Given the description of an element on the screen output the (x, y) to click on. 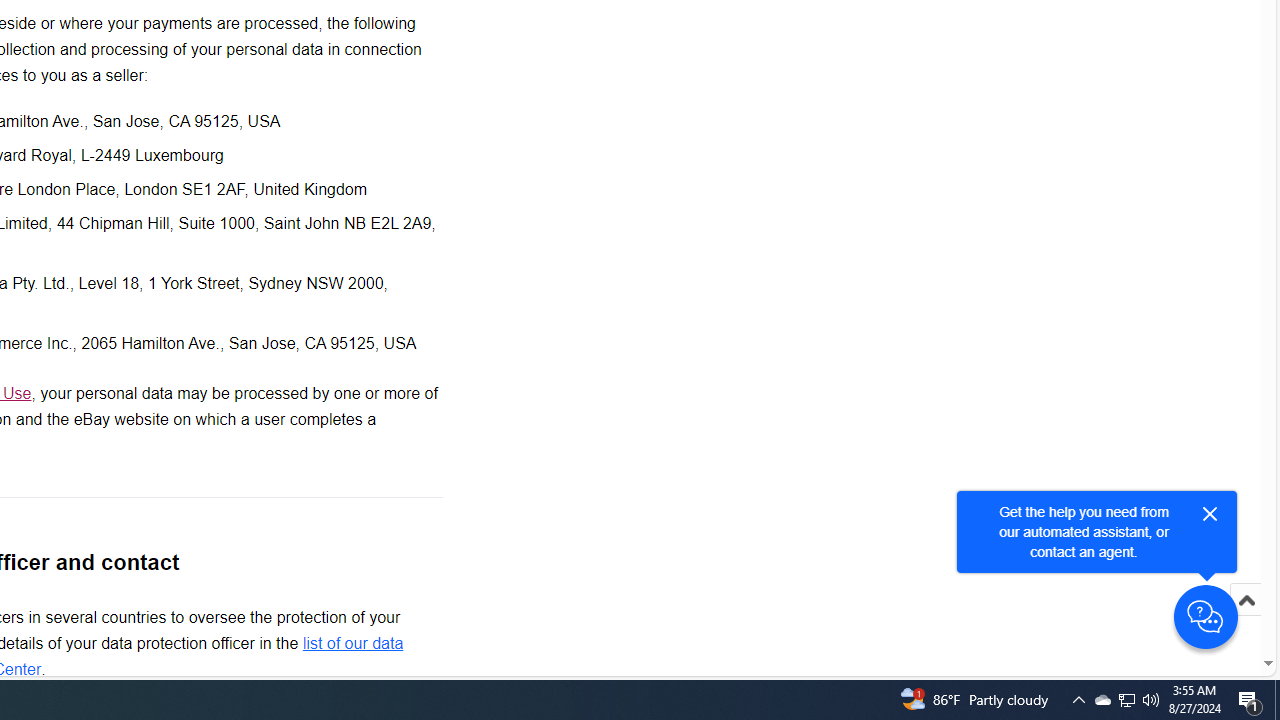
Scroll to top (1246, 620)
Scroll to top (1246, 599)
